Given the description of an element on the screen output the (x, y) to click on. 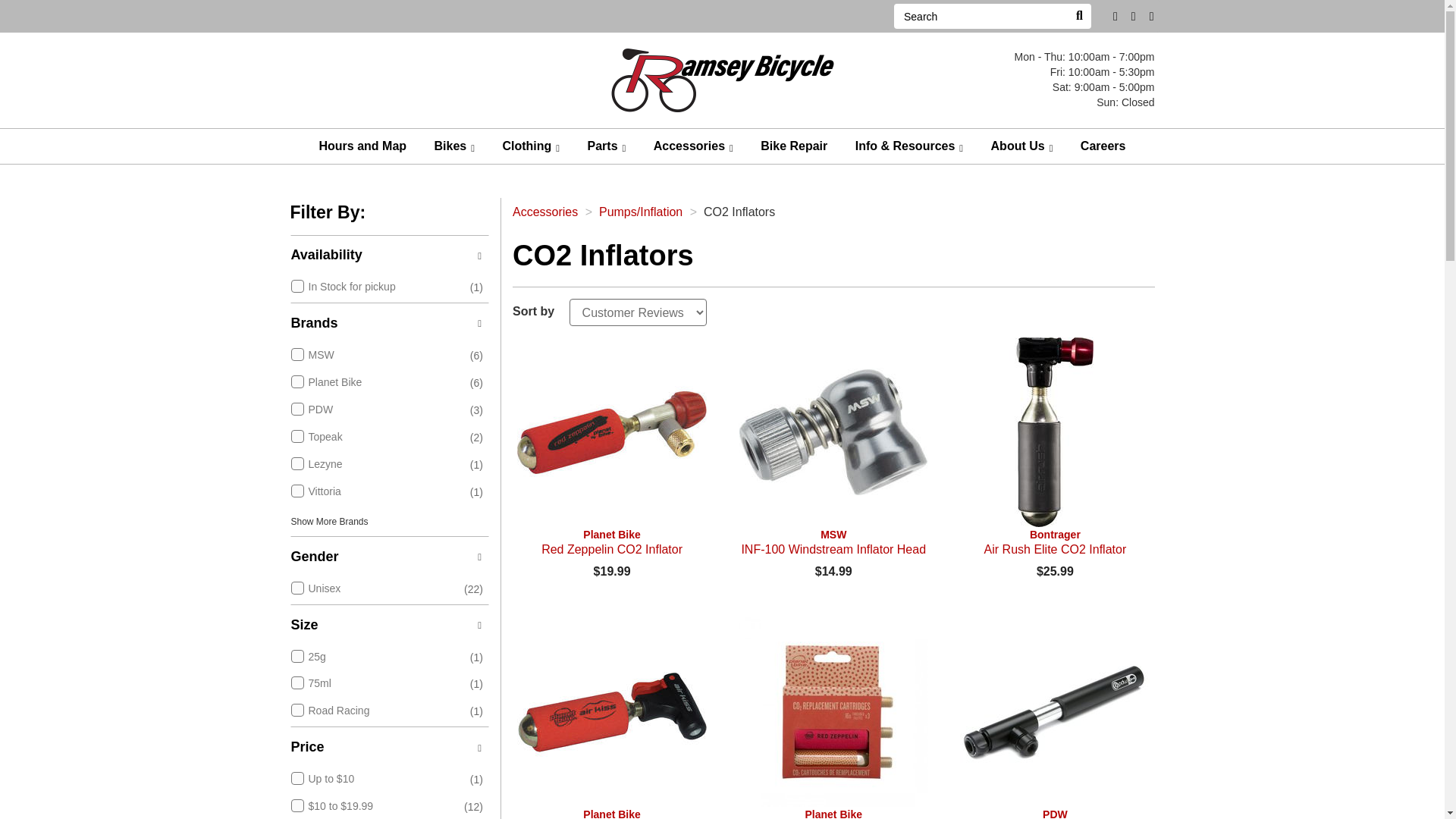
Hours and Map (363, 145)
Bikes (454, 145)
Ramsey Bicycle Home Page (721, 78)
Search (1078, 16)
Search (980, 16)
